Given the description of an element on the screen output the (x, y) to click on. 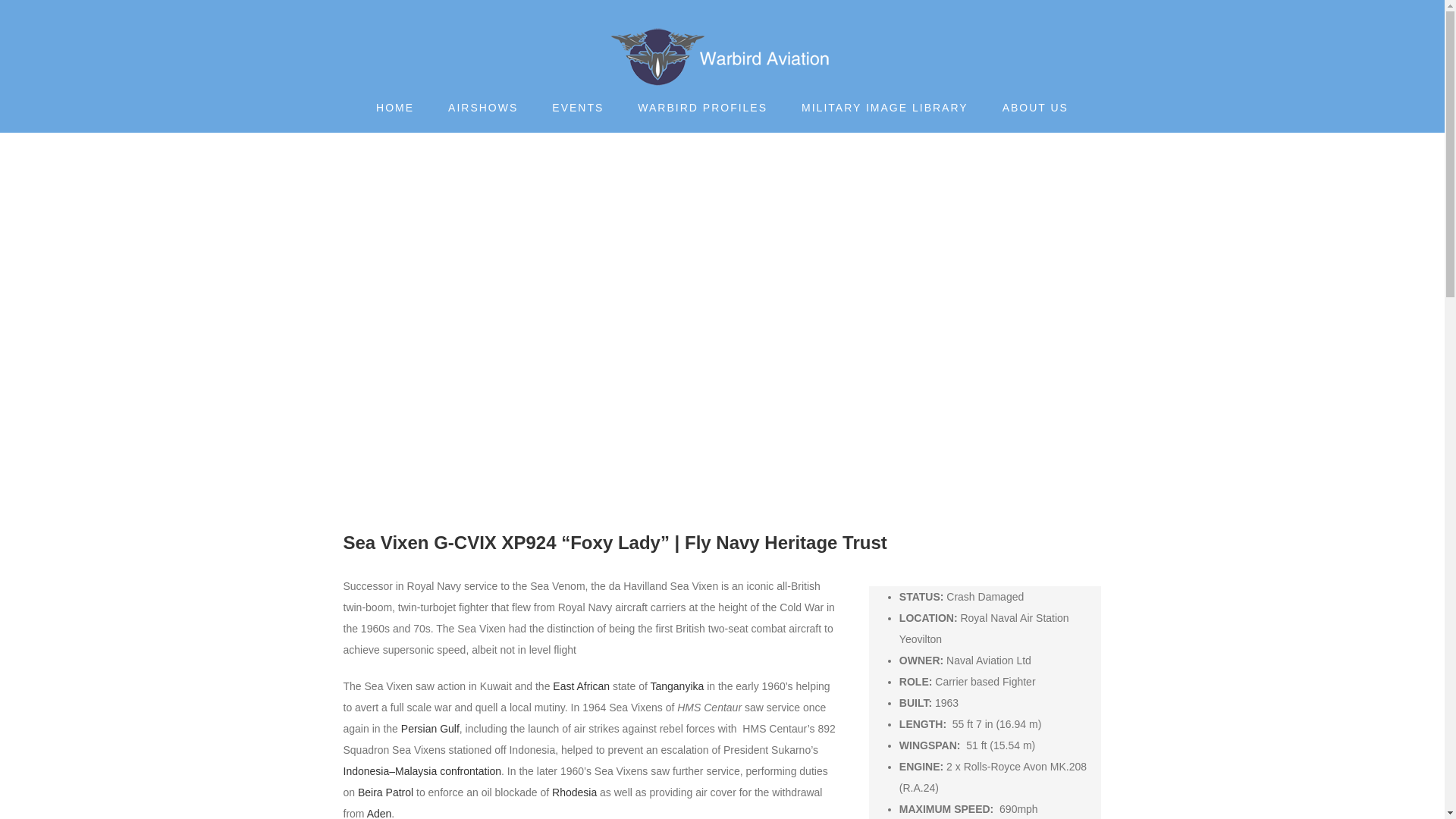
Beira Patrol (385, 792)
Aden (378, 813)
ABOUT US (1035, 107)
East Africa (581, 686)
Tanganyika (676, 686)
Persian Gulf (430, 728)
East African (581, 686)
AIRSHOWS (483, 107)
Persian Gulf (430, 728)
Beira Patrol (385, 792)
Rhodesia (573, 792)
EVENTS (577, 107)
WARBIRD PROFILES (702, 107)
Aden (378, 813)
